Given the description of an element on the screen output the (x, y) to click on. 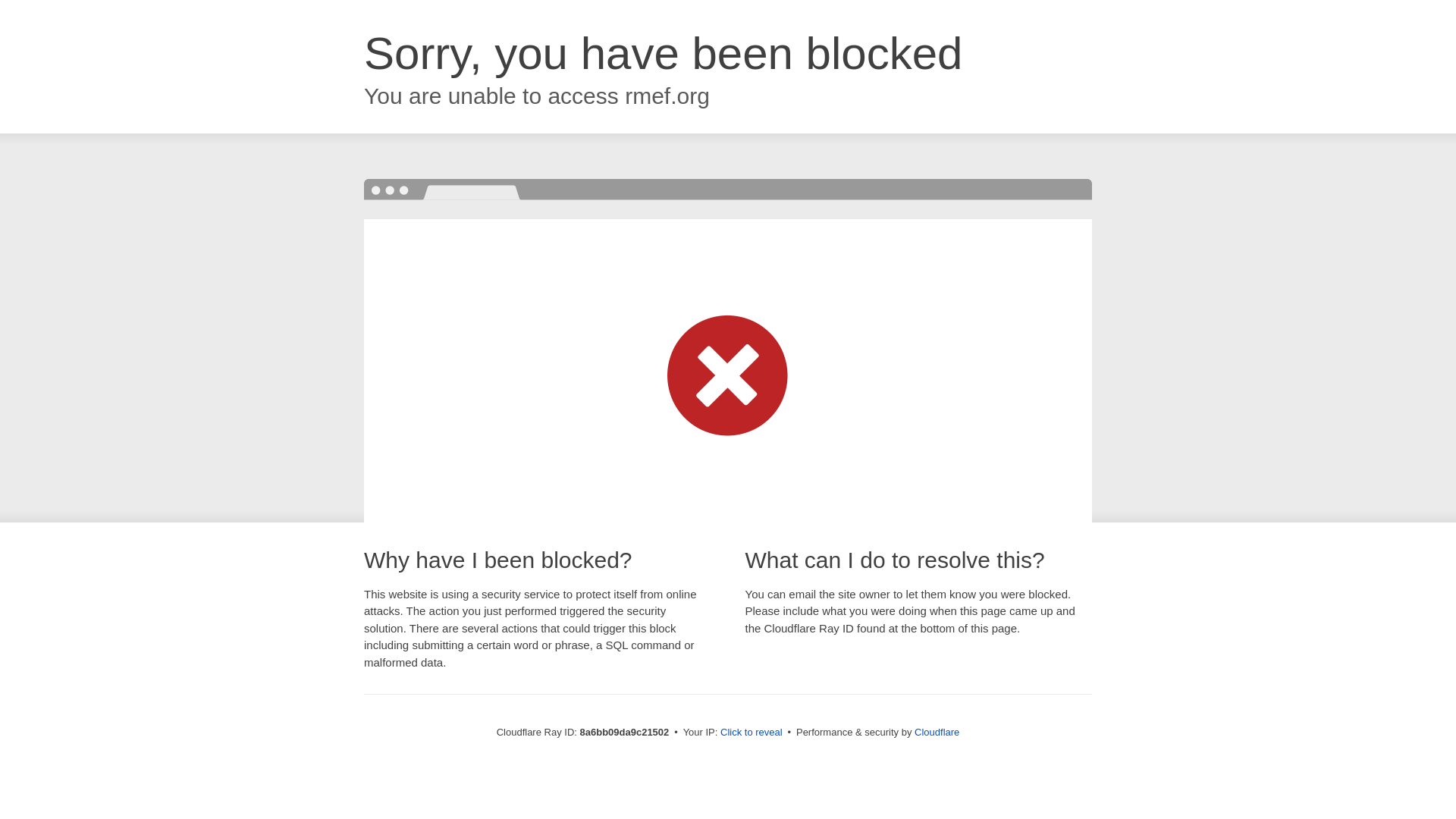
Cloudflare (936, 731)
Click to reveal (751, 732)
